Given the description of an element on the screen output the (x, y) to click on. 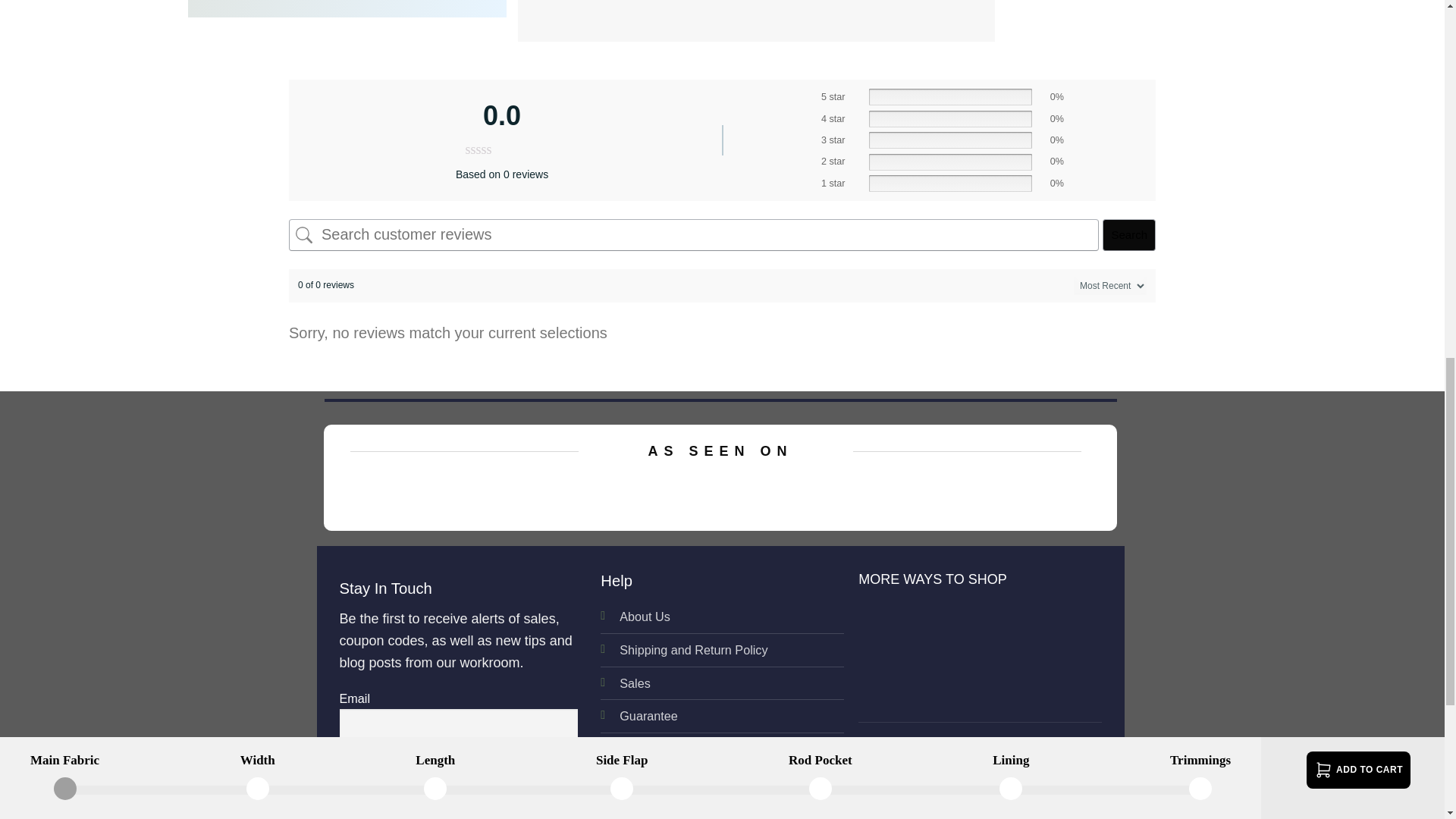
Subscribe (390, 769)
